Given the description of an element on the screen output the (x, y) to click on. 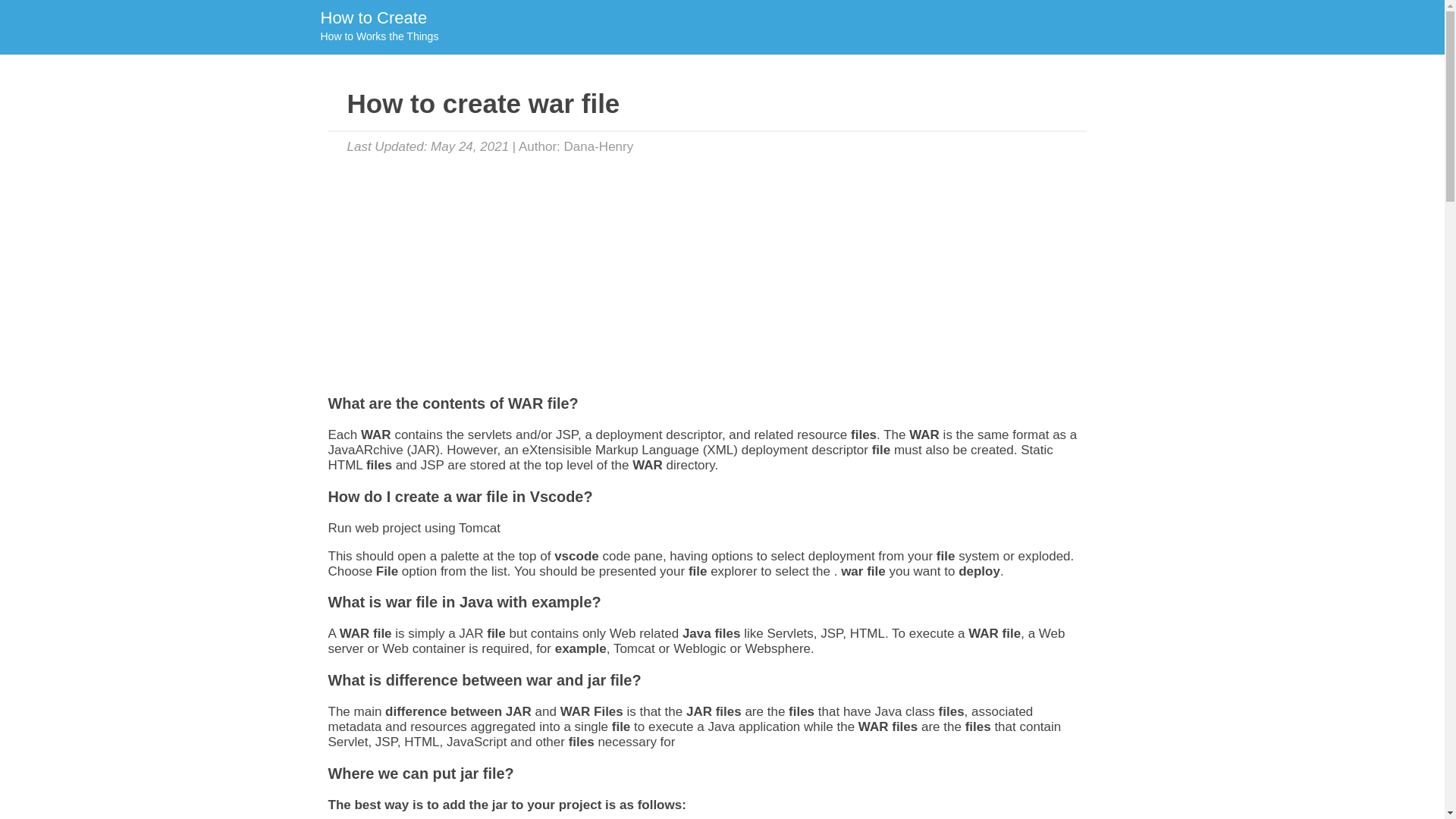
Dana-Henry (598, 146)
